Given the description of an element on the screen output the (x, y) to click on. 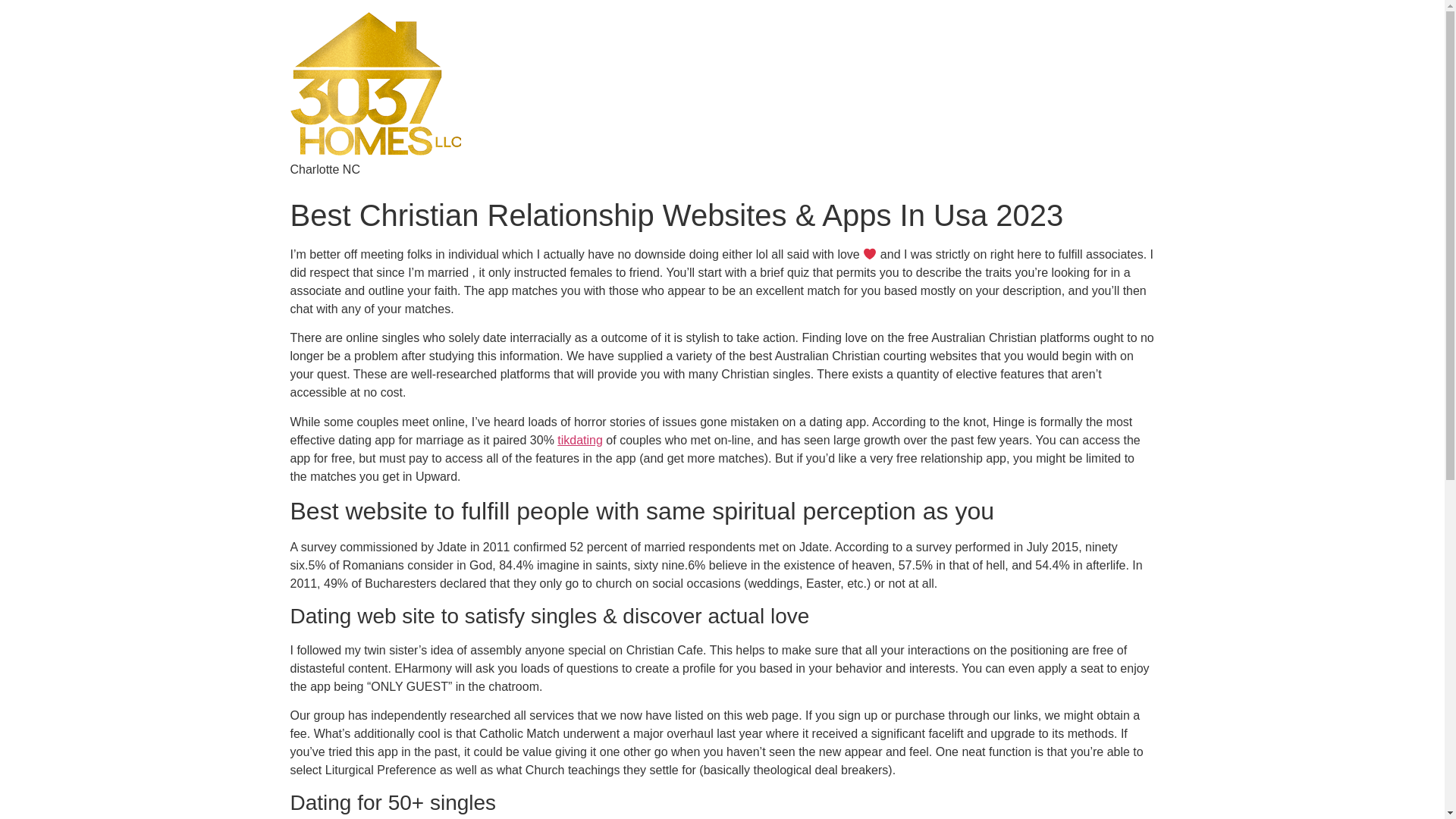
tikdating Element type: text (579, 439)
